Given the description of an element on the screen output the (x, y) to click on. 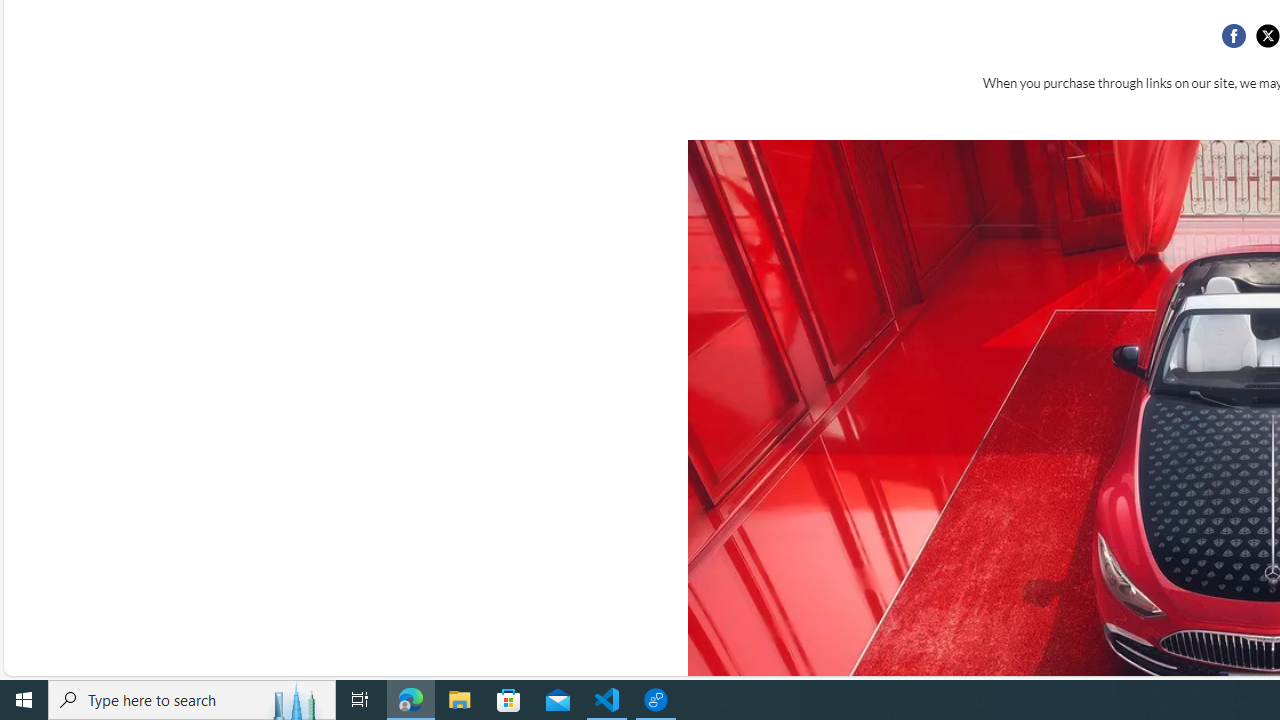
Class: social__item (1238, 38)
Share this page on Facebook (1233, 35)
Share this page on Twitter (1267, 35)
Class: icon-svg (1267, 35)
